Given the description of an element on the screen output the (x, y) to click on. 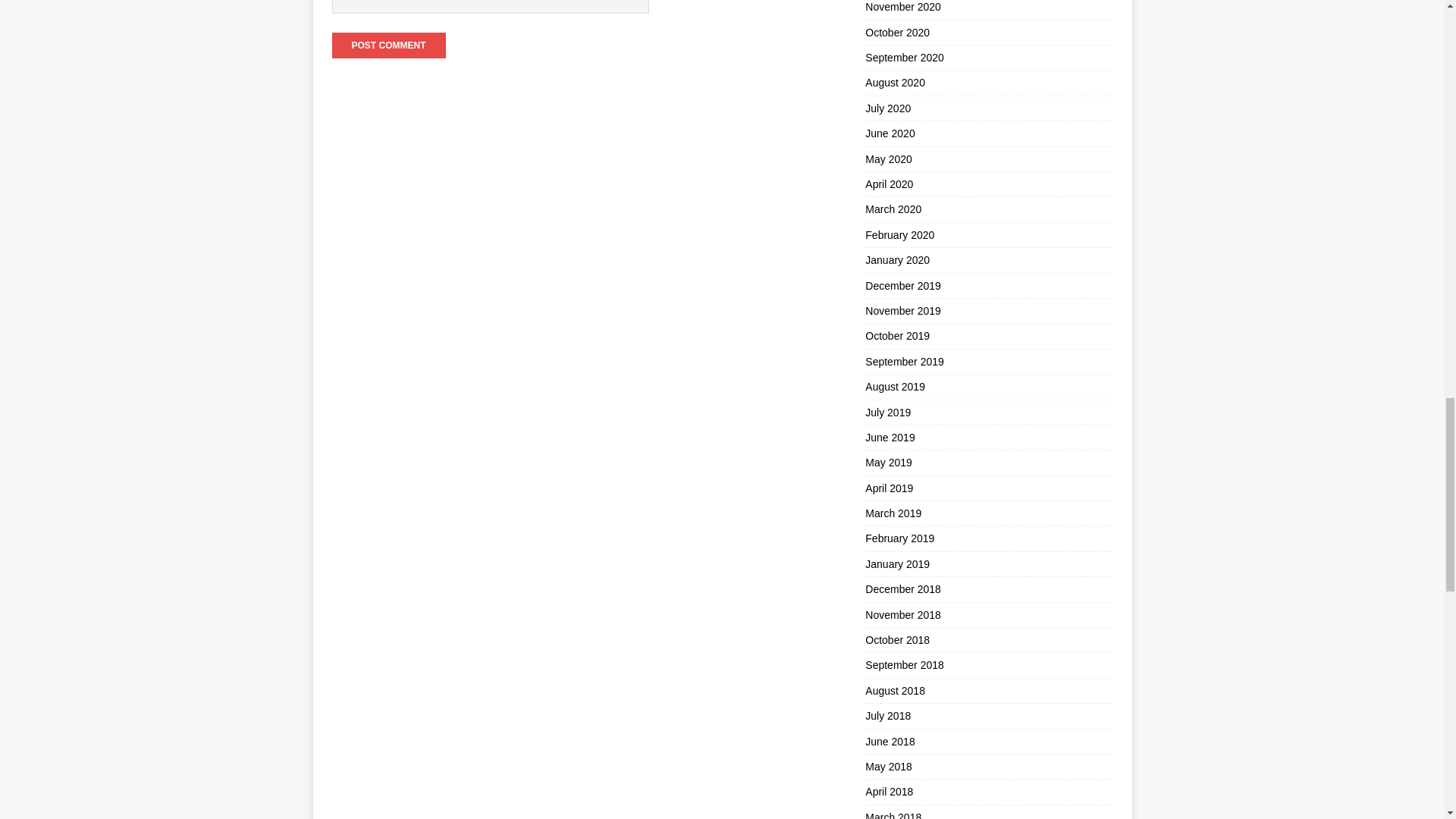
Post Comment (388, 45)
